Given the description of an element on the screen output the (x, y) to click on. 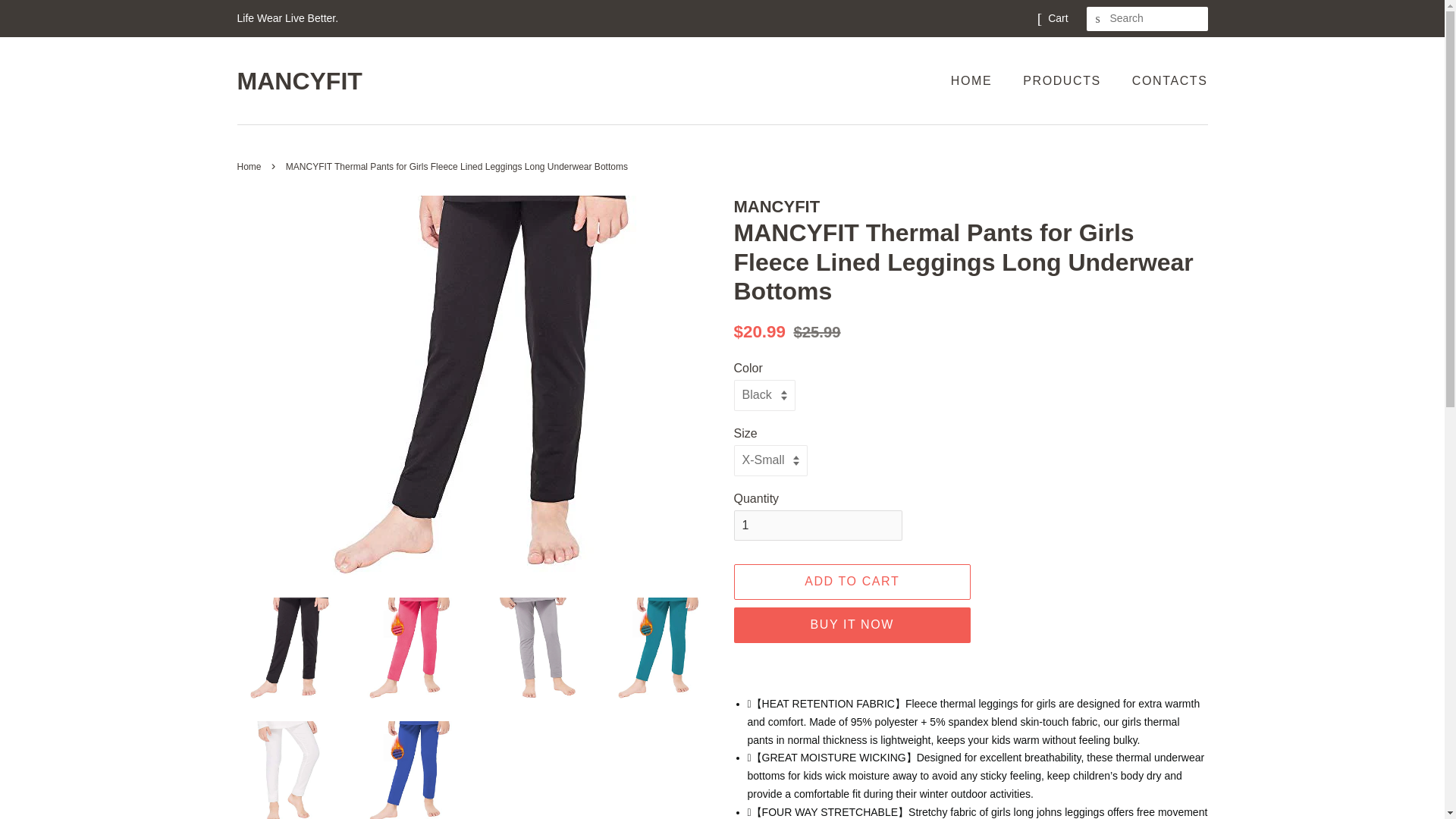
Back to the frontpage (249, 166)
ADD TO CART (852, 581)
CONTACTS (1164, 80)
Cart (1057, 18)
PRODUCTS (1063, 80)
1 (817, 525)
MANCYFIT (298, 80)
SEARCH (1097, 18)
HOME (978, 80)
BUY IT NOW (852, 624)
